Given the description of an element on the screen output the (x, y) to click on. 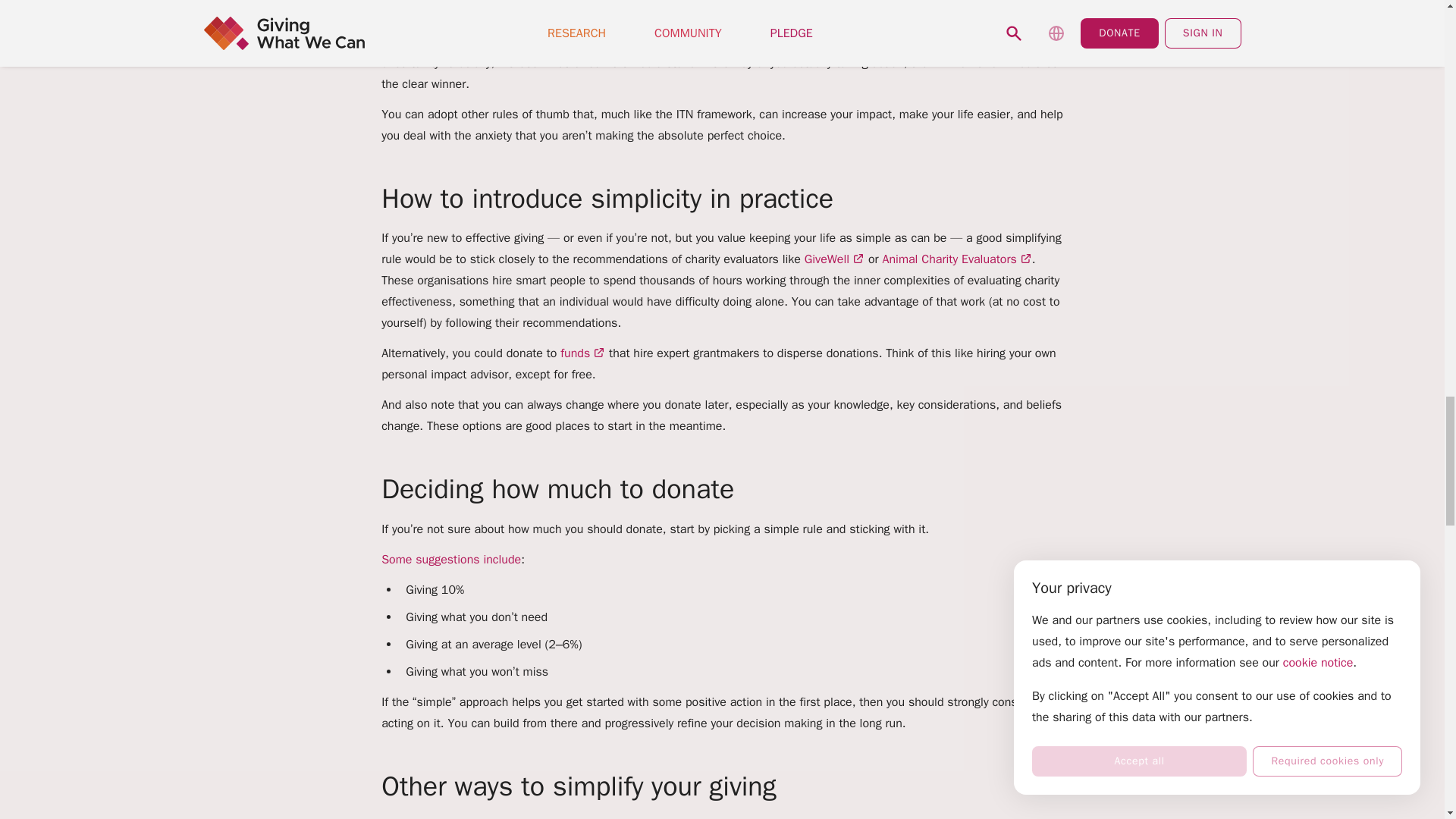
GiveWell (834, 258)
Some suggestions include (451, 559)
Animal Charity Evaluators (956, 258)
funds (582, 353)
